Given the description of an element on the screen output the (x, y) to click on. 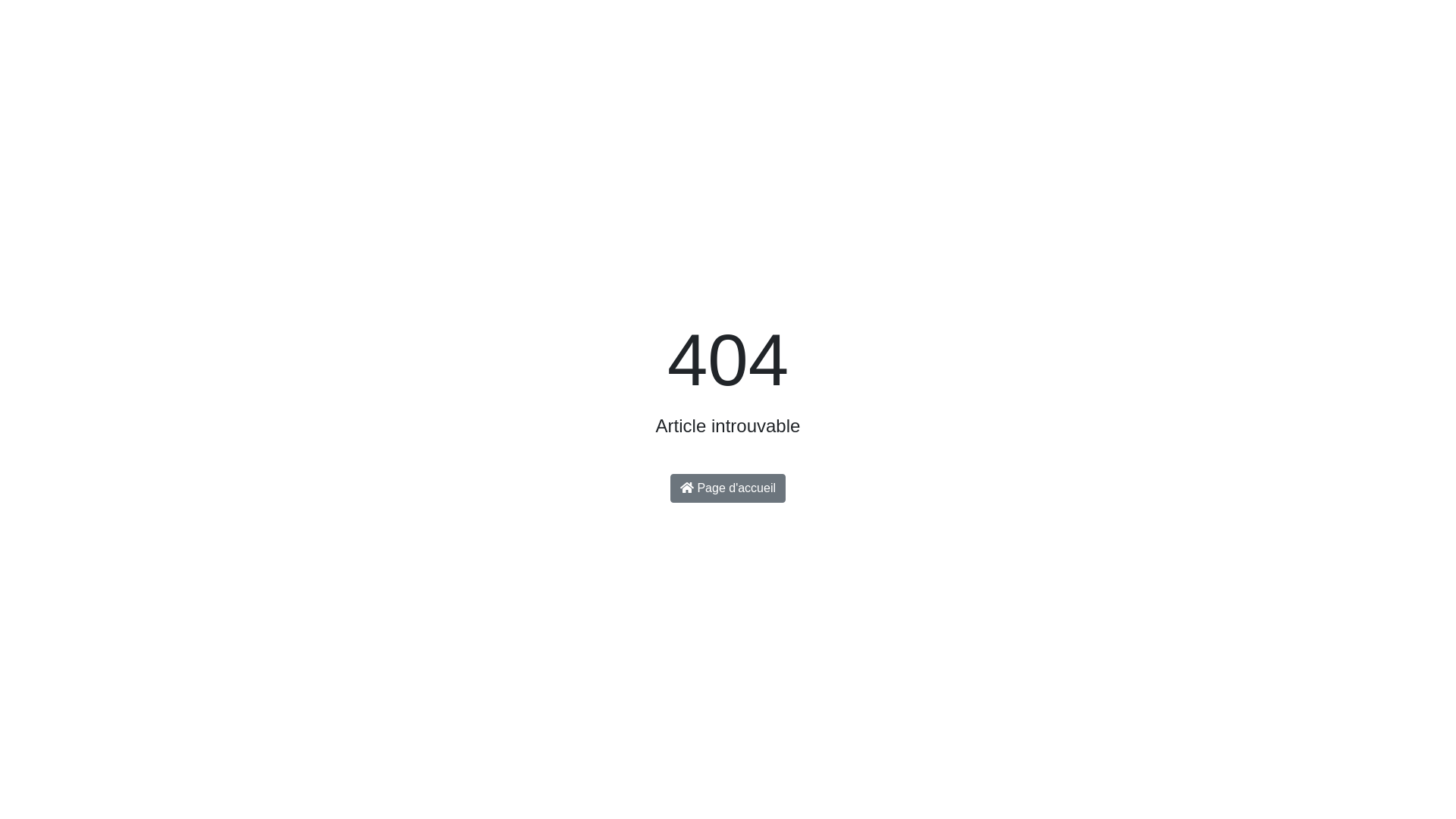
Page d'accueil Element type: text (727, 487)
